Given the description of an element on the screen output the (x, y) to click on. 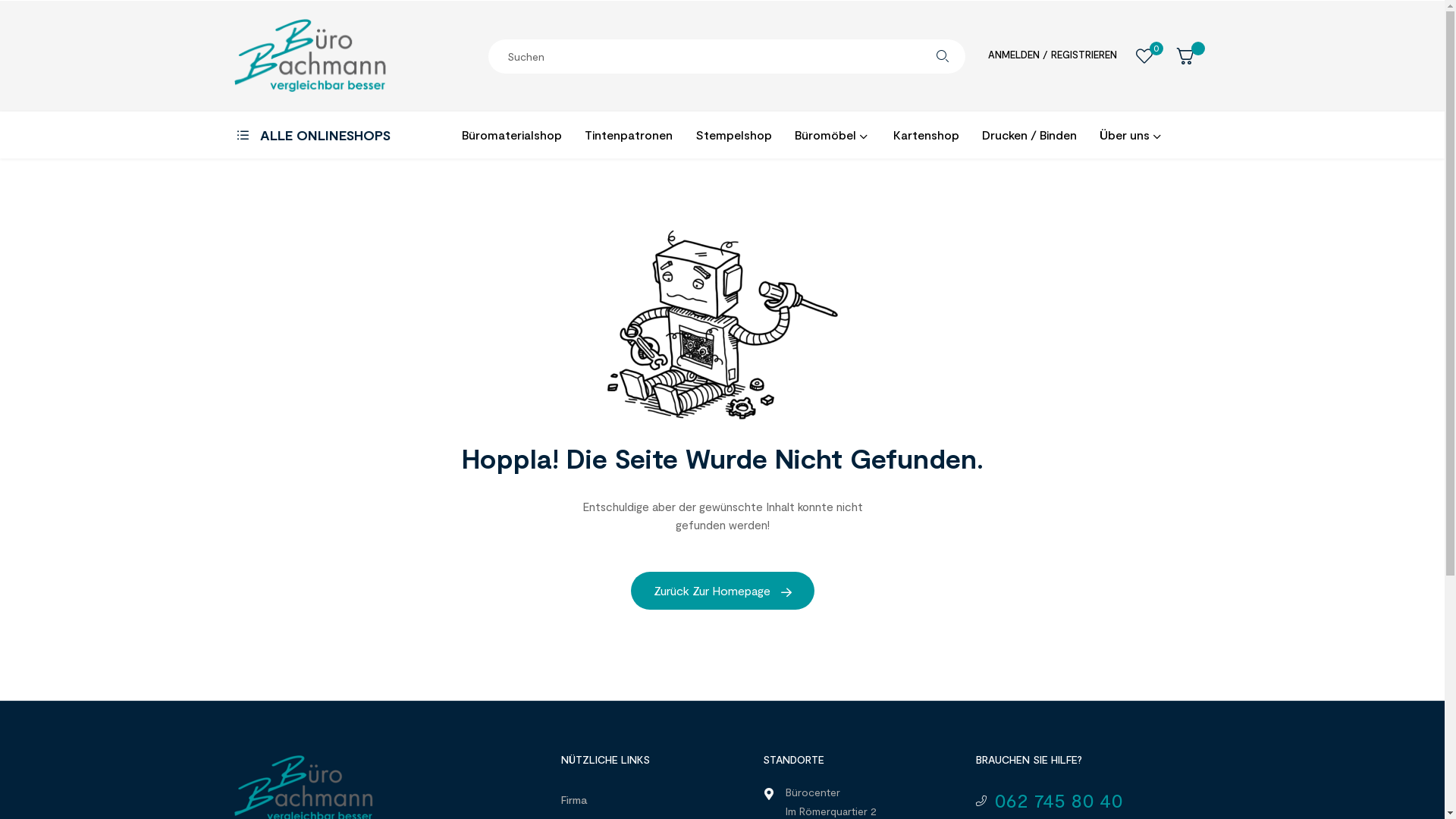
Stempelshop Element type: text (733, 134)
Warenkorb anschauen Element type: hover (1185, 55)
0 Element type: text (1143, 55)
Drucken / Binden Element type: text (1029, 134)
Firma Element type: text (639, 799)
Kartenshop Element type: text (925, 134)
Tintenpatronen Element type: text (628, 134)
ANMELDEN / REGISTRIEREN Element type: text (1050, 57)
Suchen Element type: text (942, 56)
